Given the description of an element on the screen output the (x, y) to click on. 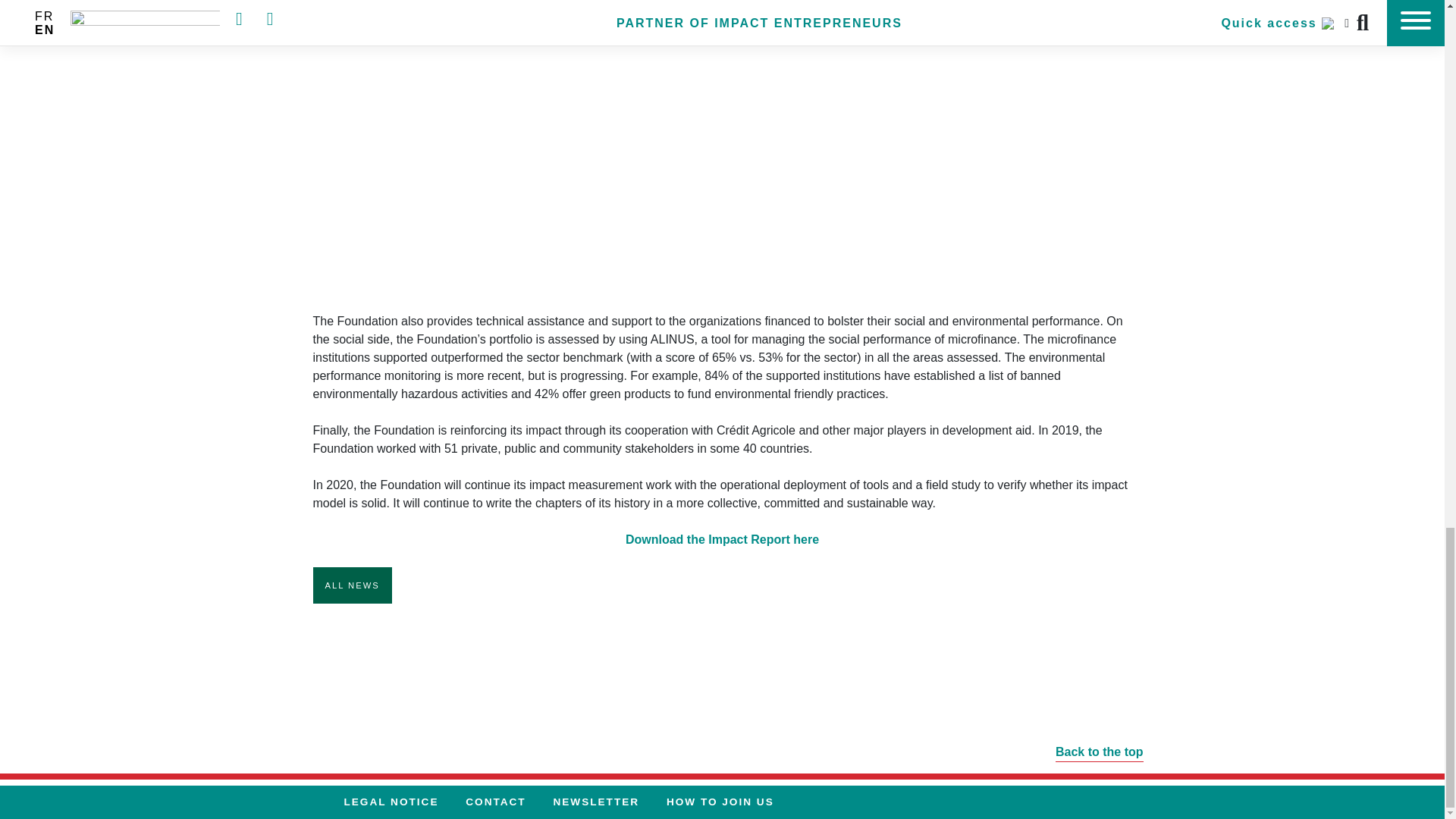
How to join us (719, 801)
NEWSLETTER (595, 801)
Back to the top (721, 745)
HOW TO JOIN US (719, 801)
Newsletter (595, 801)
Limbus Studio (1133, 800)
LEGAL NOTICE (391, 801)
Legal Notice (391, 801)
CONTACT (494, 801)
Download the Impact Report here (722, 539)
ALL NEWS (352, 585)
Contact (494, 801)
